Given the description of an element on the screen output the (x, y) to click on. 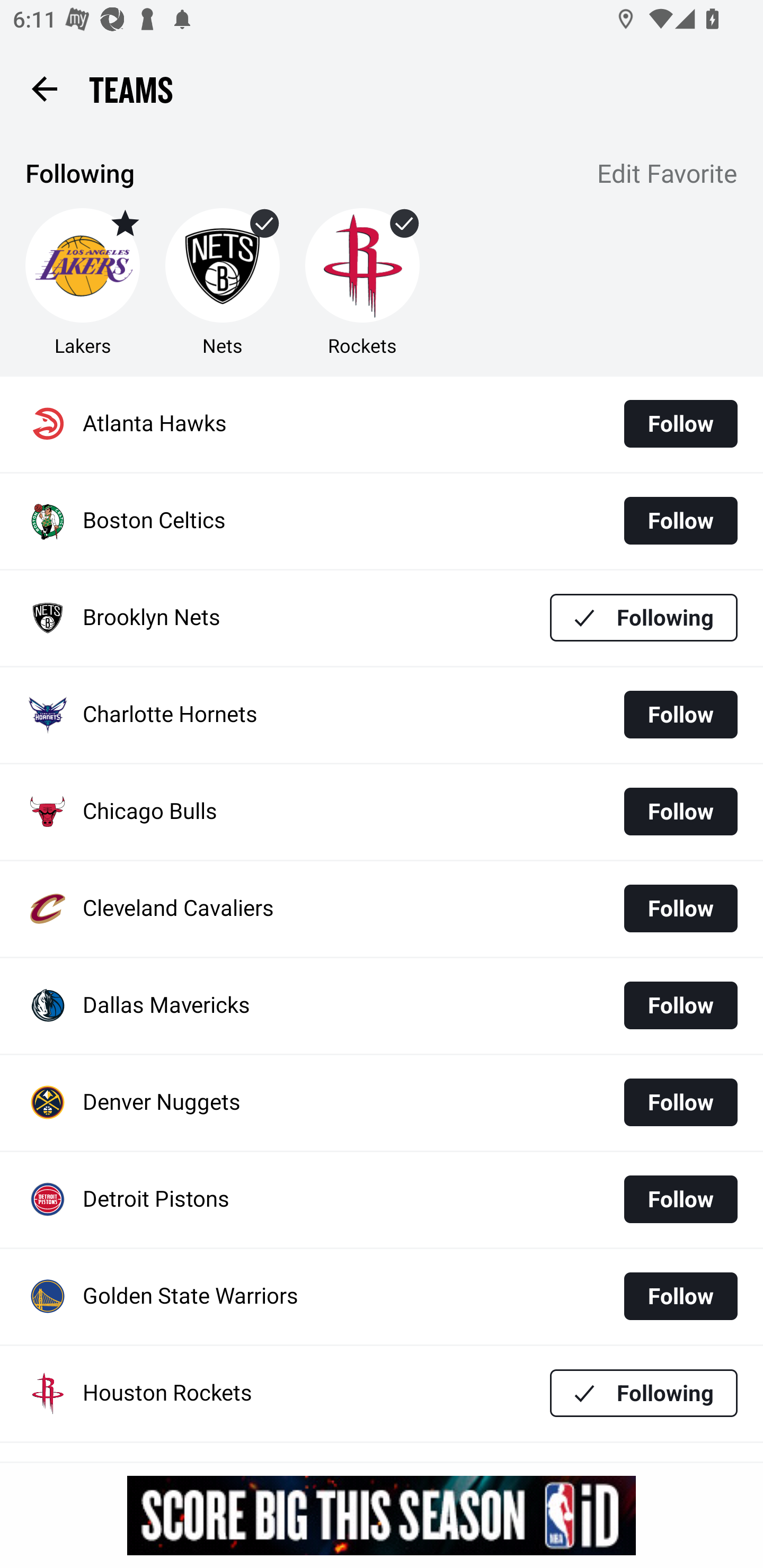
Back button (44, 88)
Edit Favorite (667, 175)
Atlanta Hawks Follow (381, 423)
Follow (680, 423)
Boston Celtics Follow (381, 521)
Follow (680, 520)
Brooklyn Nets Following (381, 618)
Following (643, 617)
Charlotte Hornets Follow (381, 714)
Follow (680, 713)
Chicago Bulls Follow (381, 812)
Follow (680, 811)
Cleveland Cavaliers Follow (381, 908)
Follow (680, 908)
Dallas Mavericks Follow (381, 1005)
Follow (680, 1005)
Denver Nuggets Follow (381, 1102)
Follow (680, 1101)
Detroit Pistons Follow (381, 1200)
Follow (680, 1199)
Golden State Warriors Follow (381, 1296)
Follow (680, 1295)
Houston Rockets Following (381, 1392)
Following (643, 1392)
g5nqqygr7owph (381, 1515)
